Given the description of an element on the screen output the (x, y) to click on. 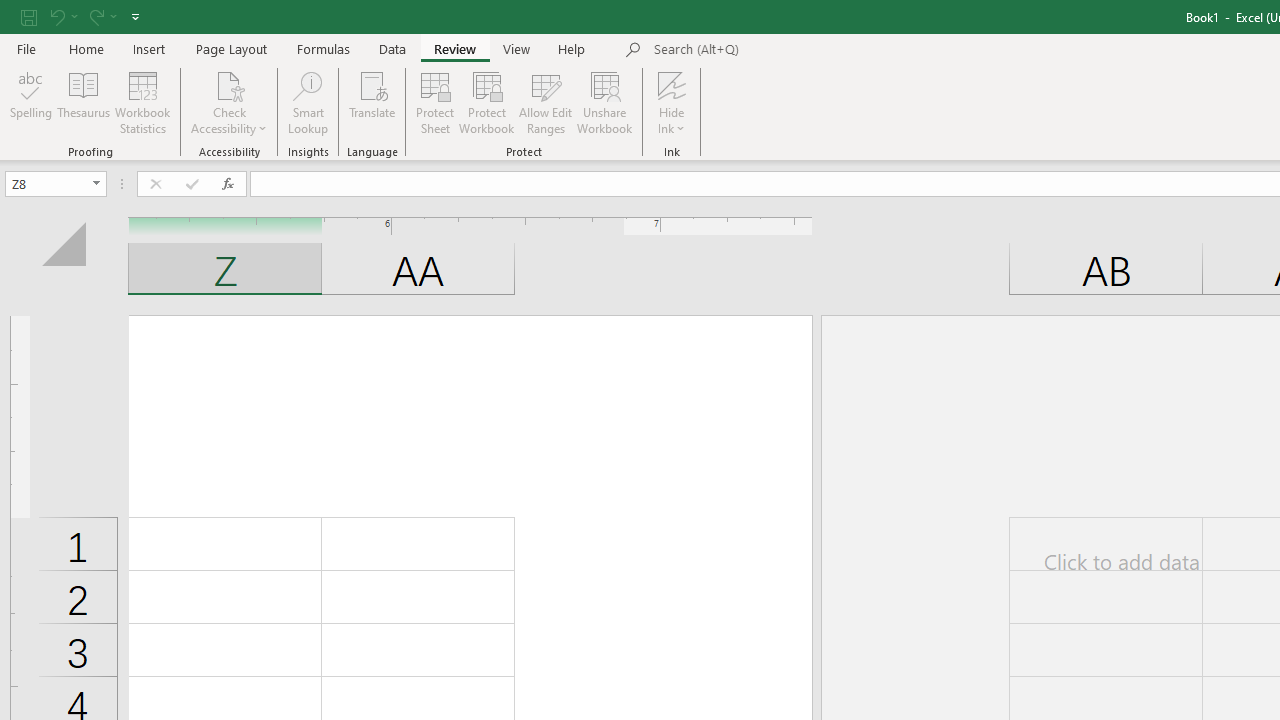
Thesaurus... (83, 102)
Spelling... (31, 102)
Smart Lookup (308, 102)
